Given the description of an element on the screen output the (x, y) to click on. 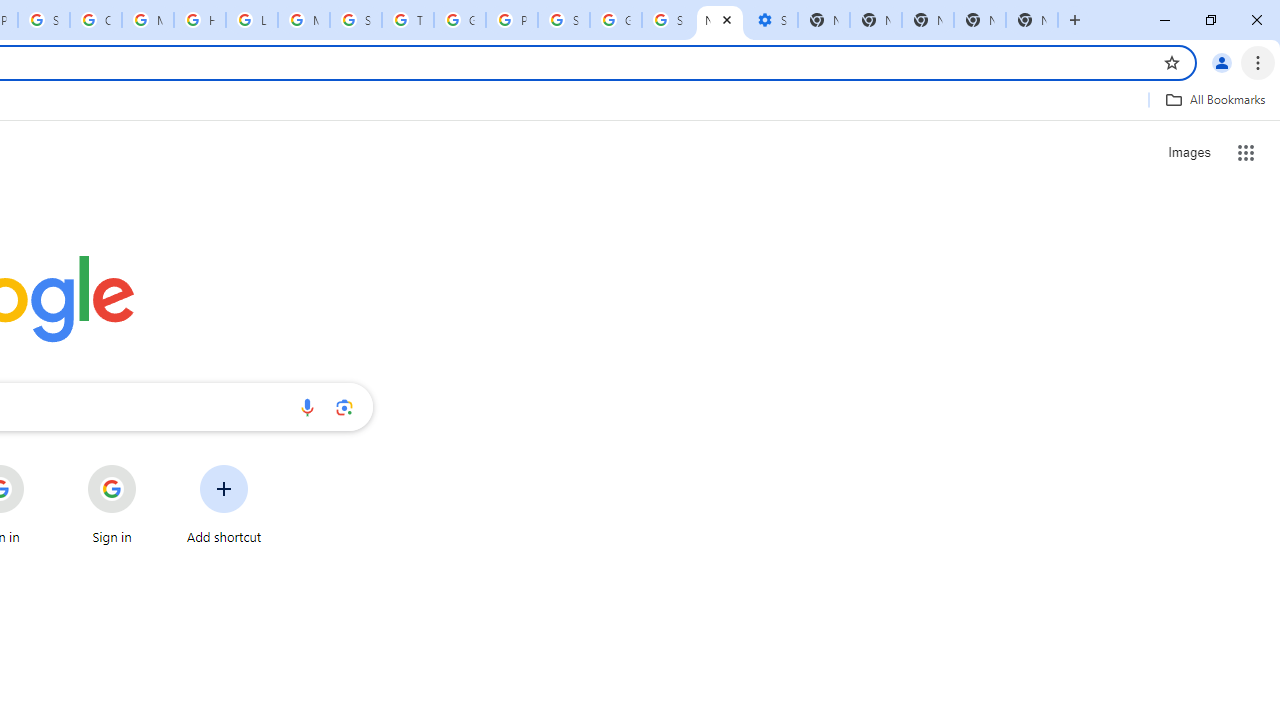
Google Ads - Sign in (459, 20)
New Tab (1032, 20)
More actions for Sign in shortcut (152, 466)
Sign in - Google Accounts (563, 20)
Search our Doodle Library Collection - Google Doodles (355, 20)
New Tab (979, 20)
